Given the description of an element on the screen output the (x, y) to click on. 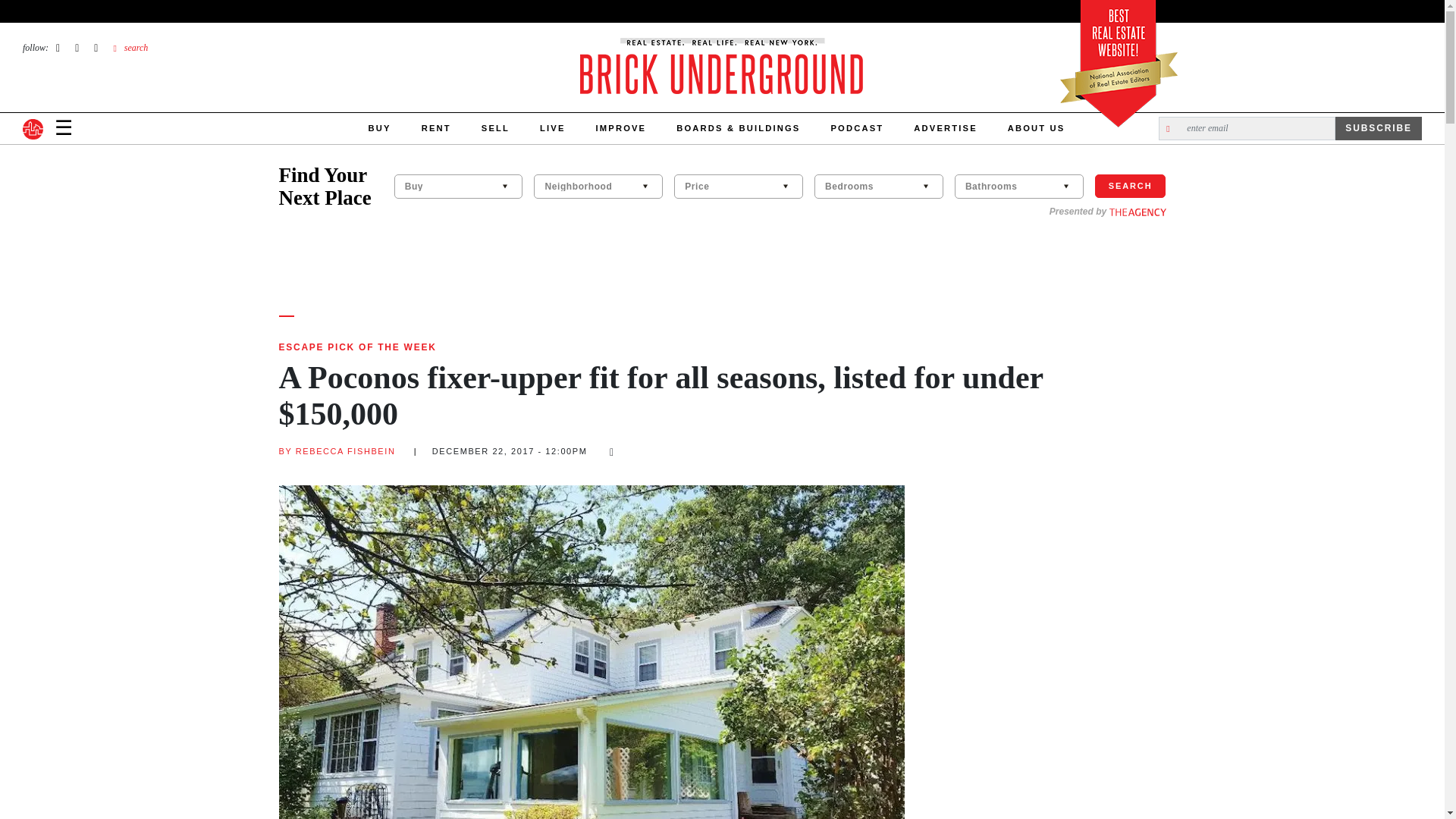
BUY (379, 128)
RENT (435, 128)
